Given the description of an element on the screen output the (x, y) to click on. 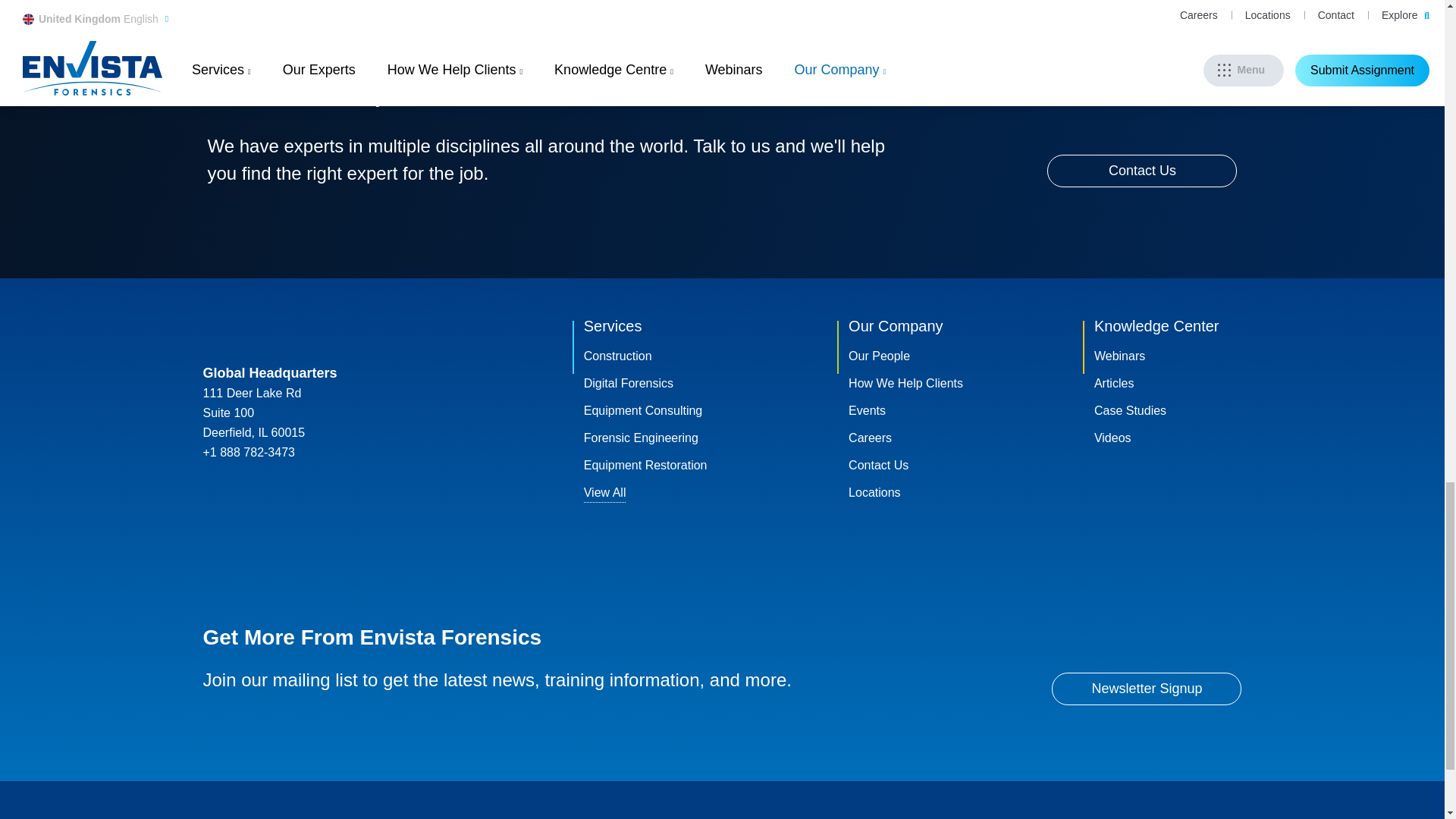
Newsletter Signup (1146, 688)
 Envista Forensics Logo (264, 324)
